Given the description of an element on the screen output the (x, y) to click on. 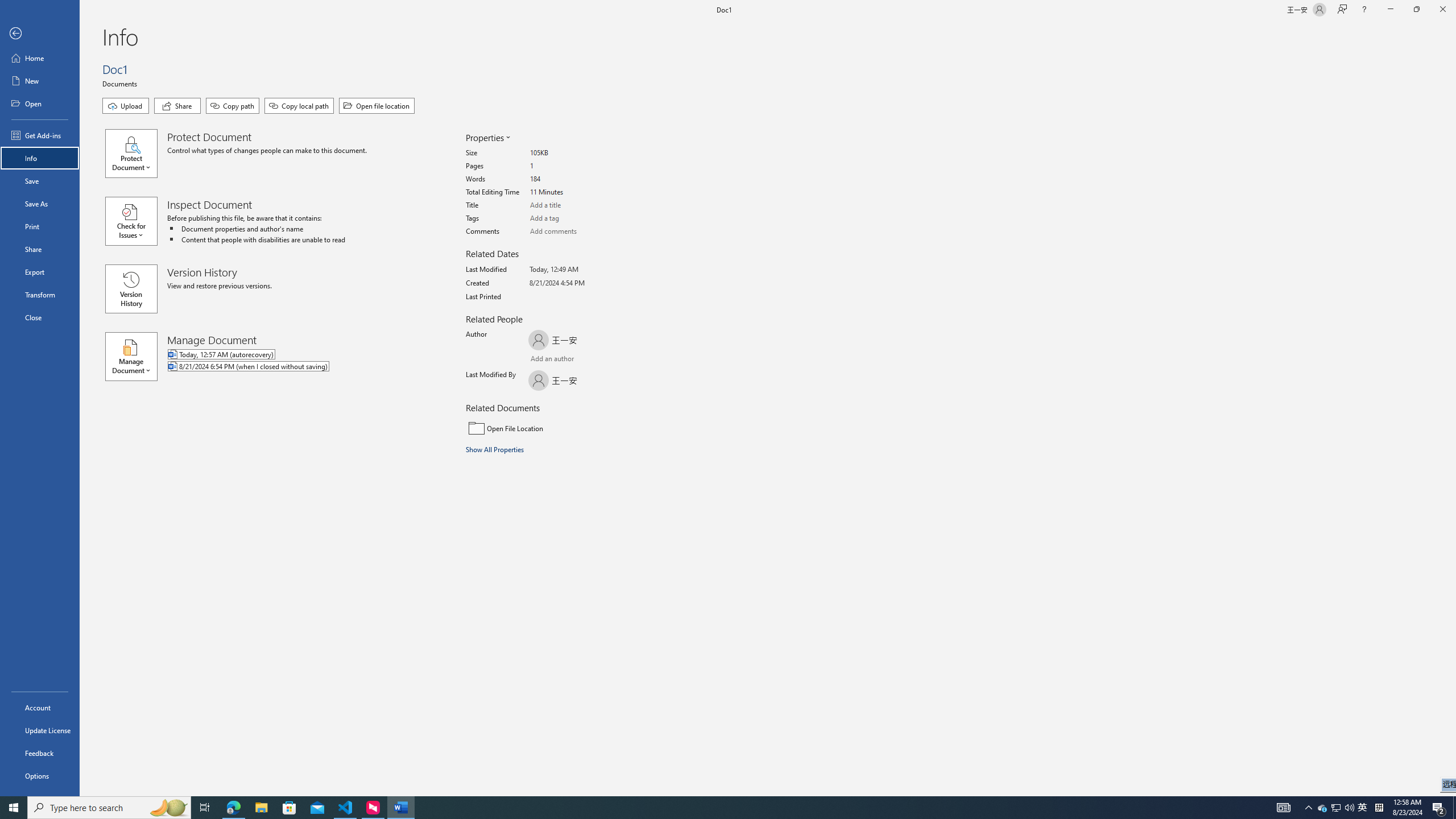
Info (40, 157)
Print (40, 225)
Open file location (376, 105)
Back (40, 33)
Properties (486, 137)
Upload (124, 105)
Open File Location (541, 427)
Add an author (540, 359)
Tags (572, 218)
